Given the description of an element on the screen output the (x, y) to click on. 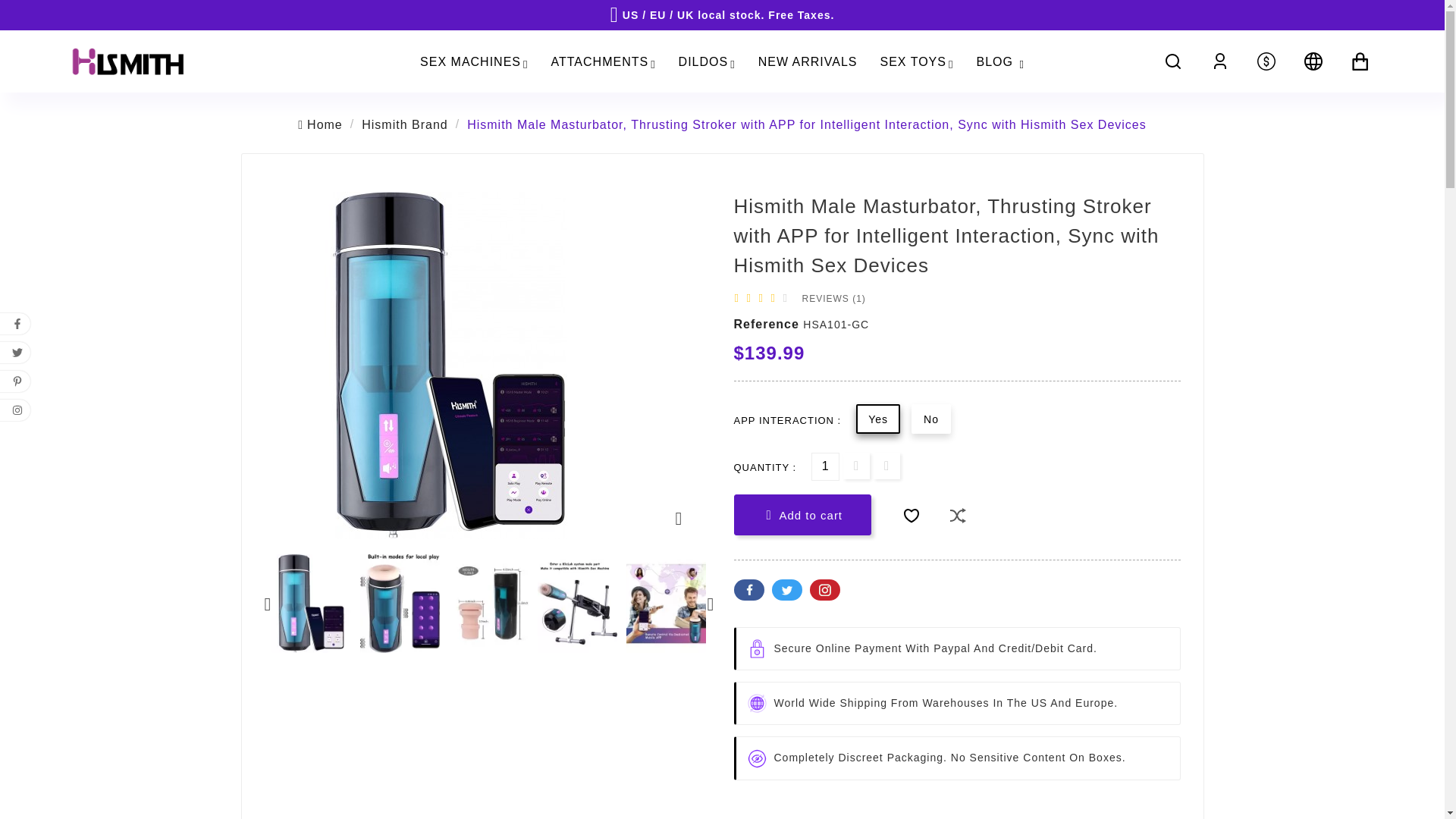
SEX TOYS (917, 61)
ATTACHMENTS (603, 61)
BLOG (999, 61)
DILDOS (706, 61)
SEX MACHINES (473, 61)
Blog (999, 61)
NEW ARRIVALS (807, 61)
1 (825, 466)
